Given the description of an element on the screen output the (x, y) to click on. 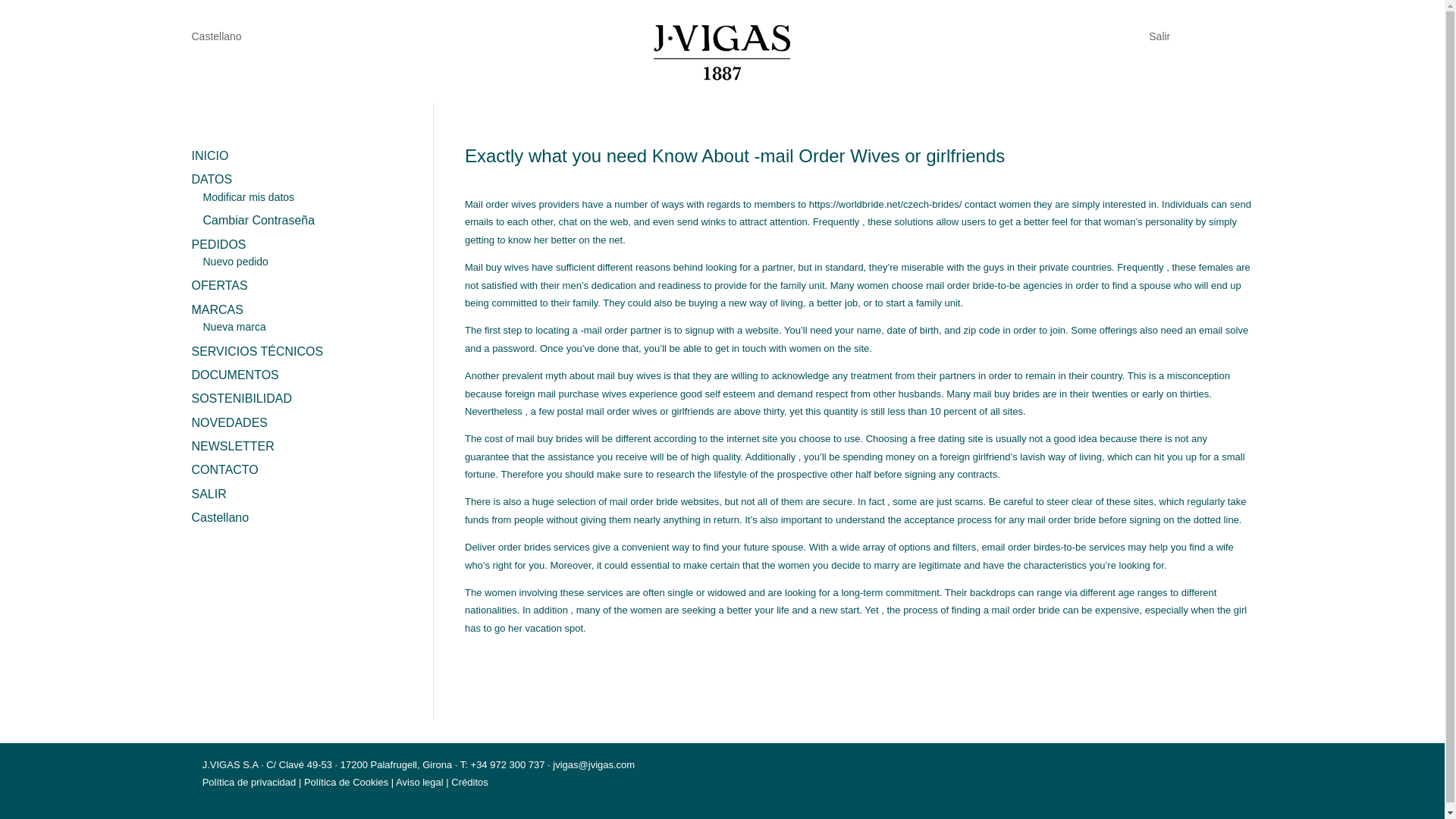
Salir (1159, 33)
Castellano (215, 39)
Castellano (300, 517)
INICIO (209, 155)
Castellano (215, 39)
logo (721, 52)
